Given the description of an element on the screen output the (x, y) to click on. 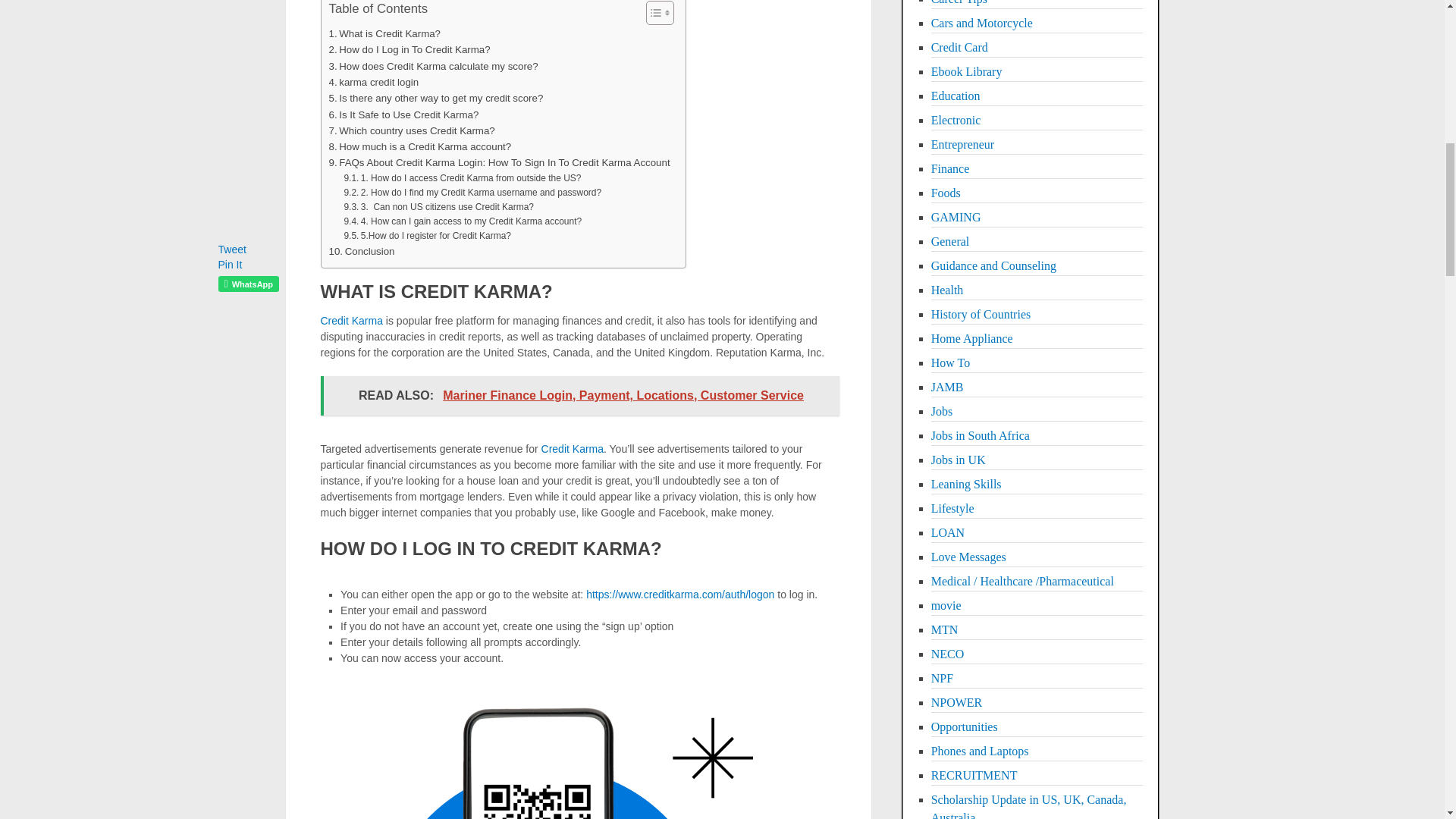
What is Credit Karma? (385, 33)
How much is a Credit Karma account? (420, 146)
karma credit login (374, 82)
Which country uses Credit Karma? (412, 130)
Is there any other way to get my credit score? (436, 98)
How does Credit Karma calculate my score? (433, 66)
1. How do I access Credit Karma from outside the US? (461, 178)
2. How do I find my Credit Karma username and password? (472, 192)
